Given the description of an element on the screen output the (x, y) to click on. 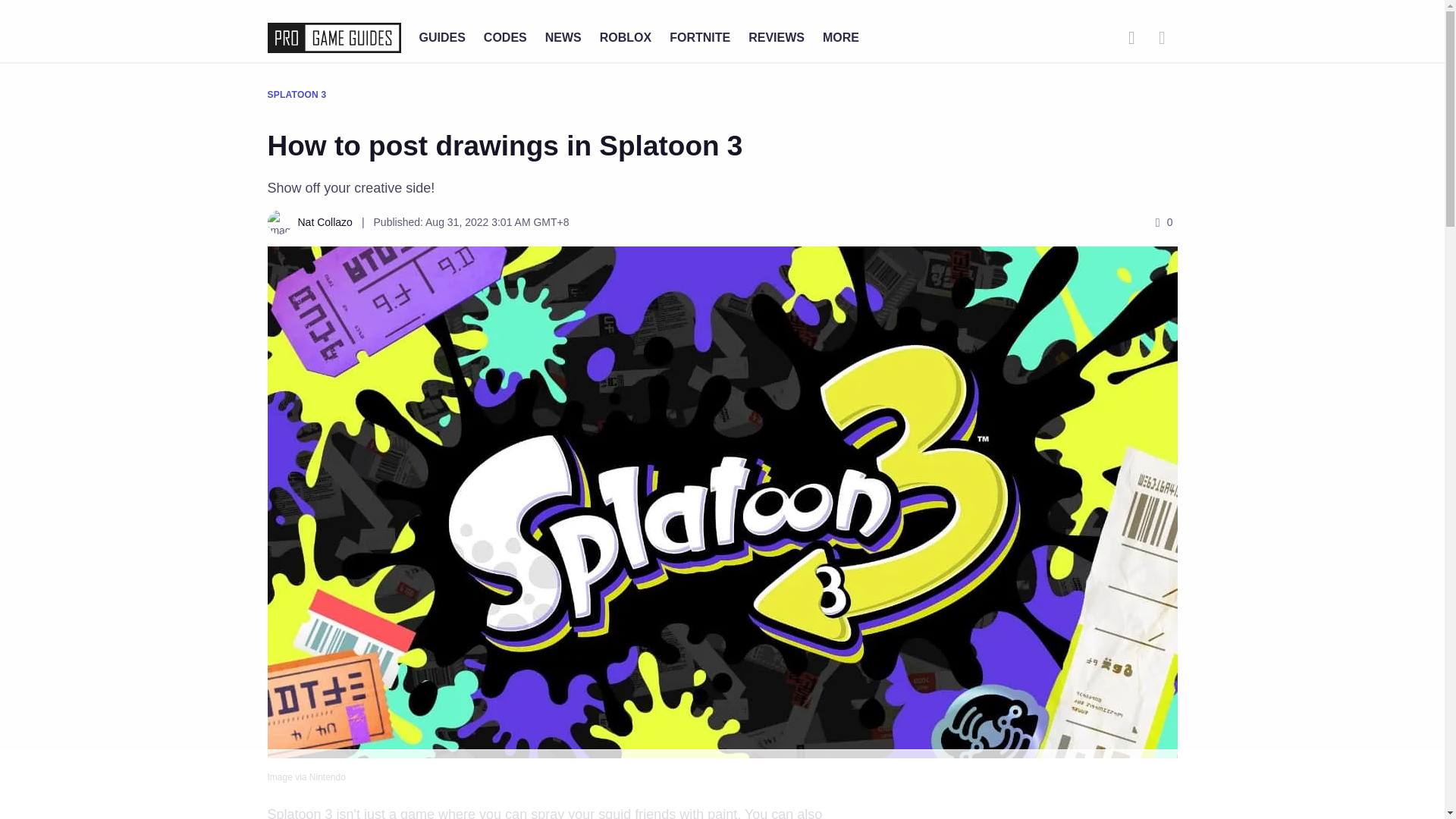
GUIDES (441, 37)
REVIEWS (776, 37)
NEWS (562, 37)
3rd party ad content (721, 785)
FORTNITE (699, 37)
Dark Mode (1161, 37)
CODES (505, 37)
Search (1131, 37)
ROBLOX (624, 37)
